Given the description of an element on the screen output the (x, y) to click on. 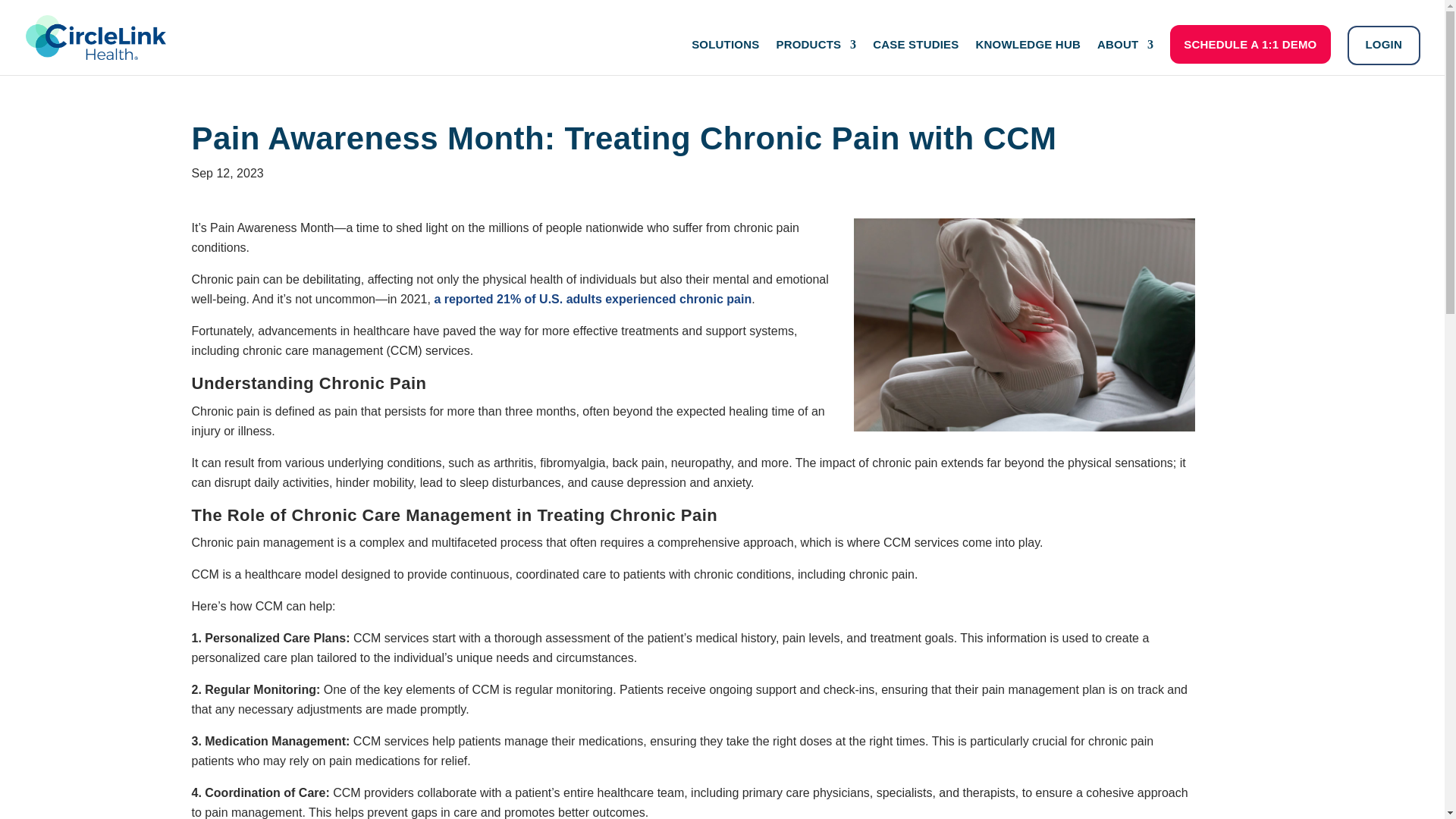
ABOUT (1125, 57)
KNOWLEDGE HUB (1027, 57)
SCHEDULE A 1:1 DEMO (1250, 44)
CASE STUDIES (915, 57)
LOGIN (1383, 45)
SOLUTIONS (724, 57)
PRODUCTS (816, 57)
